Given the description of an element on the screen output the (x, y) to click on. 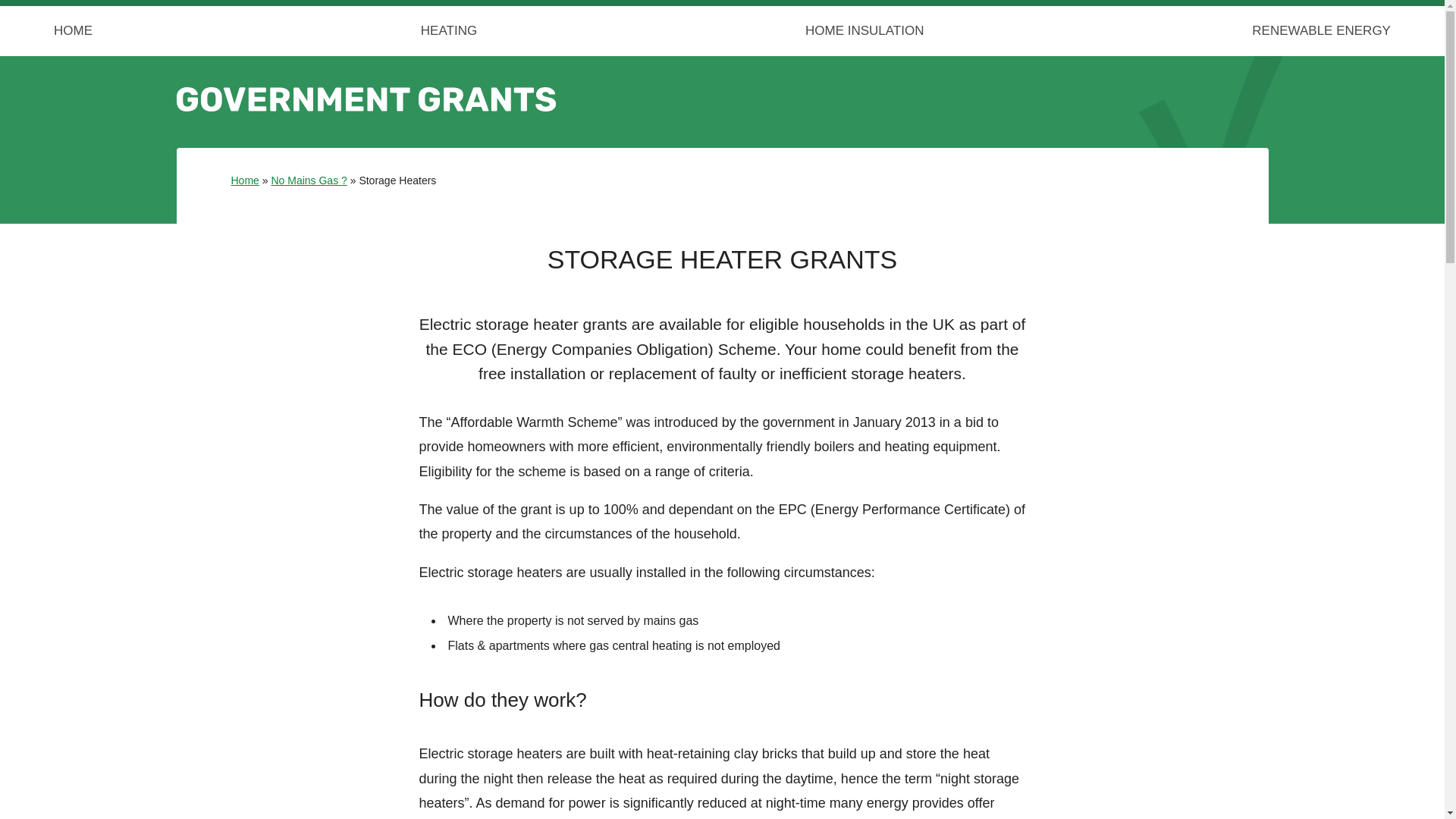
HOME (72, 30)
HEATING (448, 30)
RENEWABLE ENERGY (1321, 30)
HOME INSULATION (864, 30)
